Given the description of an element on the screen output the (x, y) to click on. 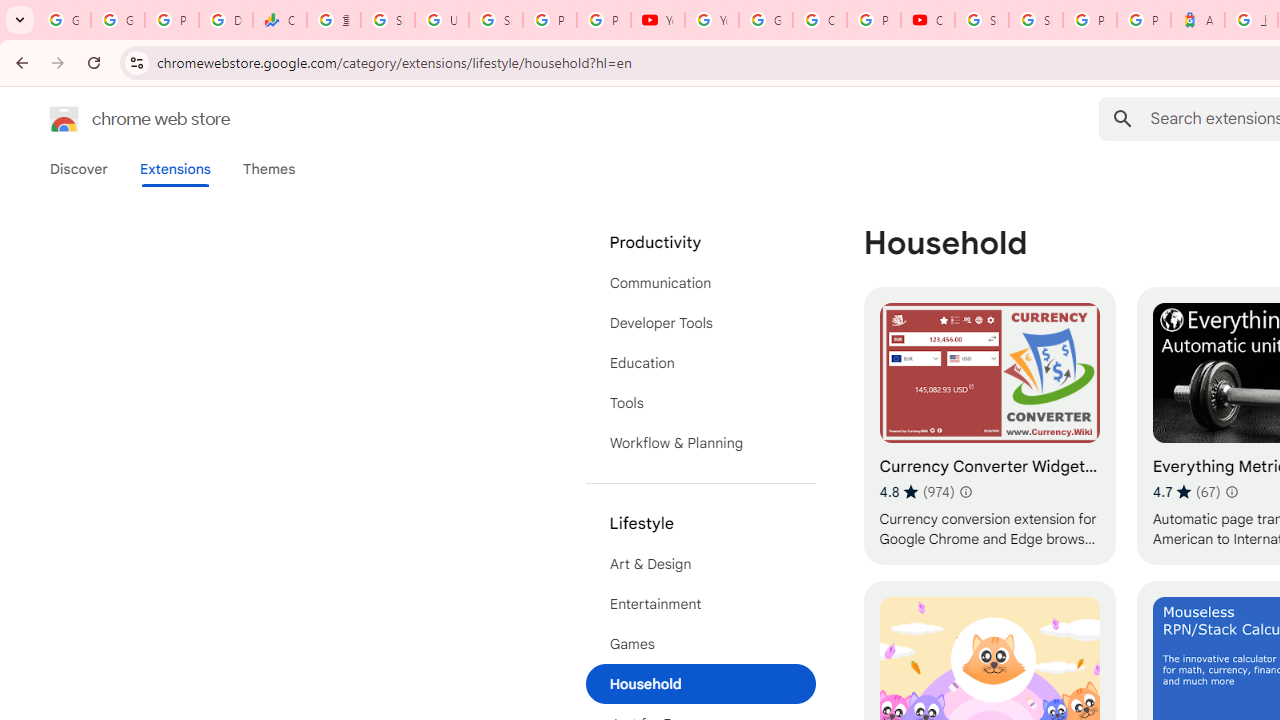
Sign in - Google Accounts (1035, 20)
Sign in - Google Accounts (495, 20)
Household (selected) (700, 683)
Average rating 4.7 out of 5 stars. 67 ratings. (1186, 491)
YouTube (657, 20)
Content Creator Programs & Opportunities - YouTube Creators (927, 20)
Sign in - Google Accounts (981, 20)
Developer Tools (700, 322)
Currencies - Google Finance (280, 20)
Chrome Web Store logo (63, 118)
